Given the description of an element on the screen output the (x, y) to click on. 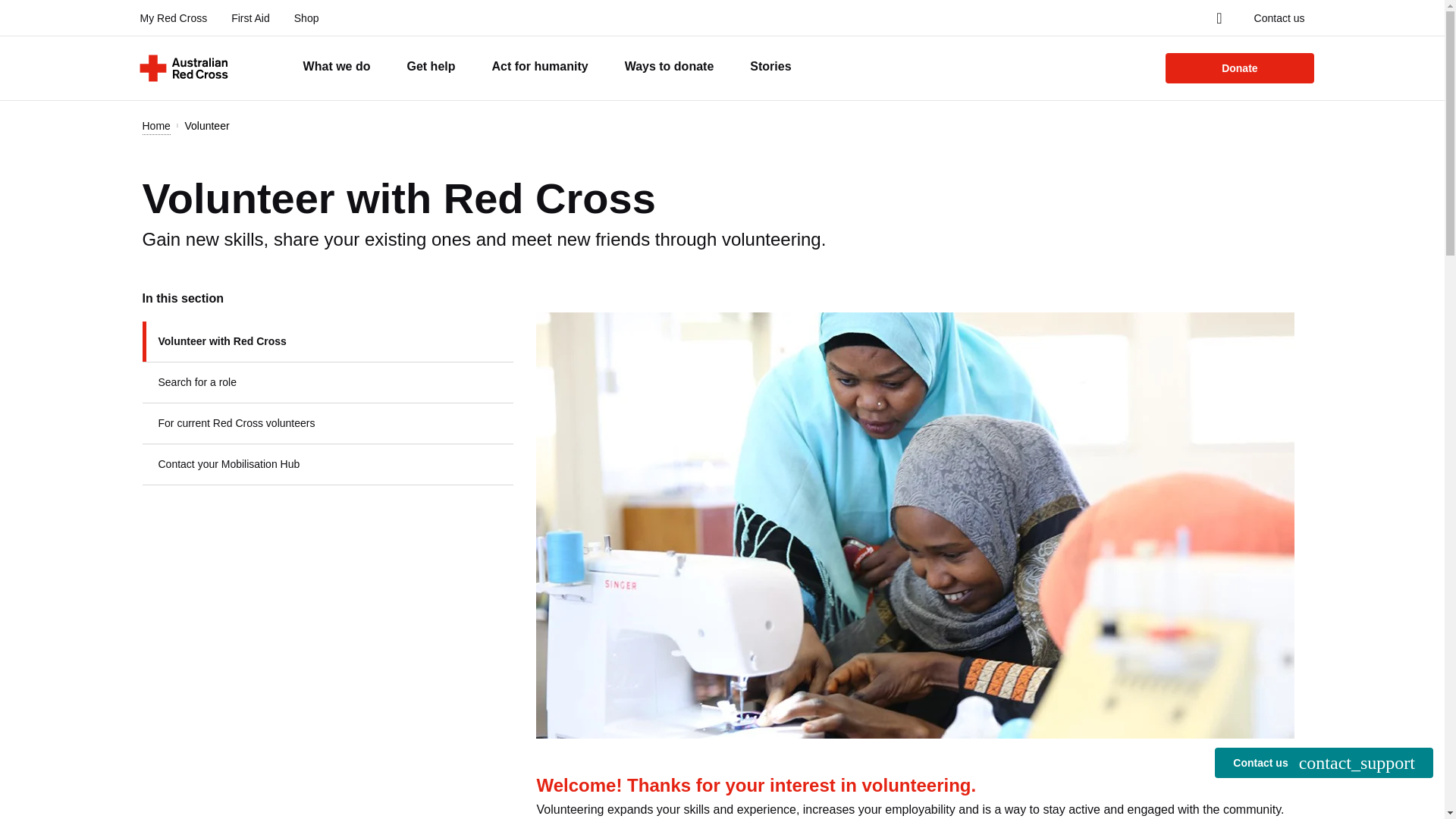
Shop (307, 18)
First Aid (250, 18)
What we do (336, 67)
Act for humanity (540, 67)
Ways to donate (669, 67)
Contact us (1279, 18)
My Red Cross (173, 18)
